Given the description of an element on the screen output the (x, y) to click on. 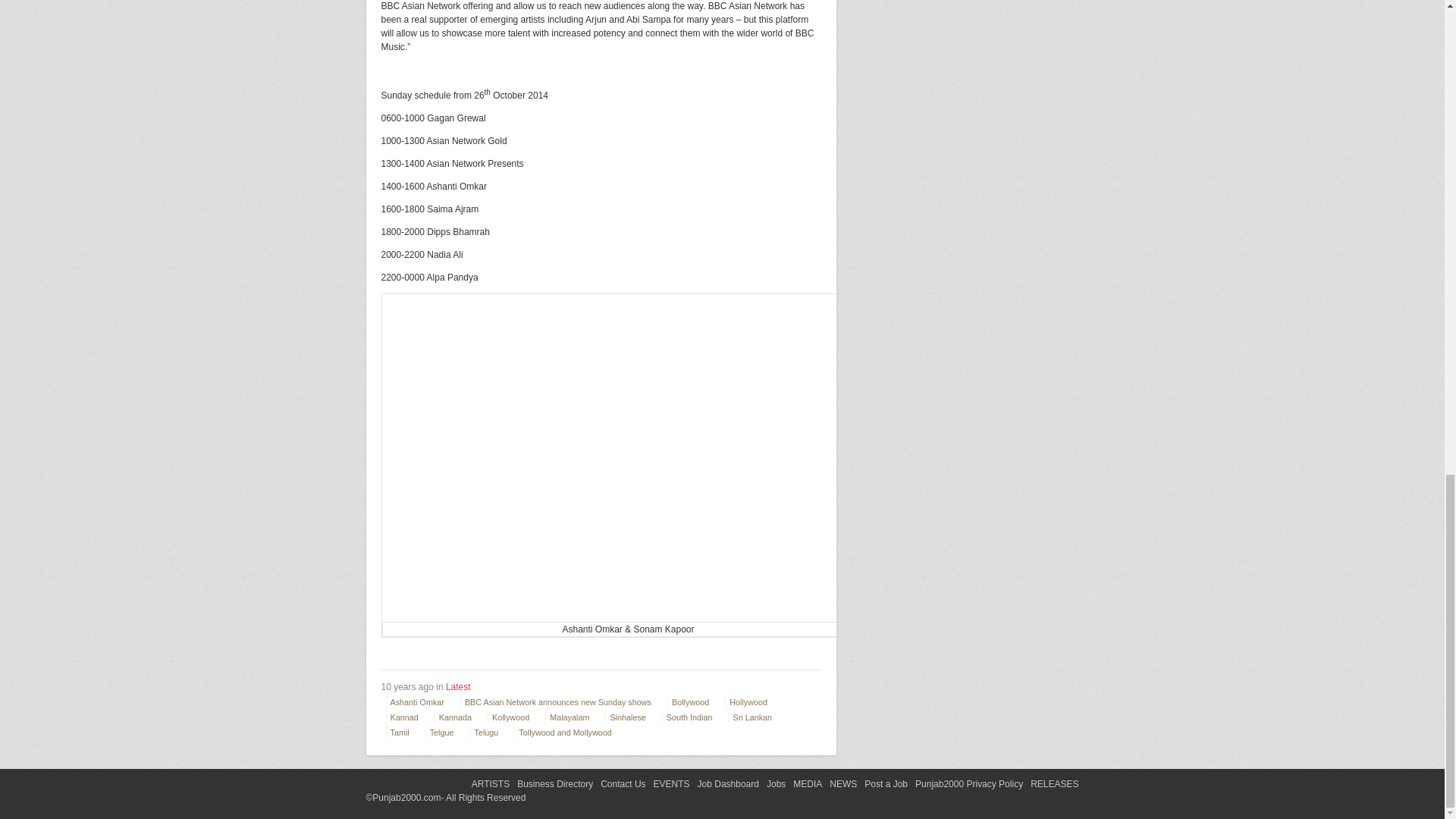
Kannada (458, 717)
Latest (457, 686)
BBC Asian Network announces new Sunday shows (561, 702)
Ashanti Omkar (419, 702)
Bollywood (693, 702)
Kannad (407, 717)
Hollywood (751, 702)
